Given the description of an element on the screen output the (x, y) to click on. 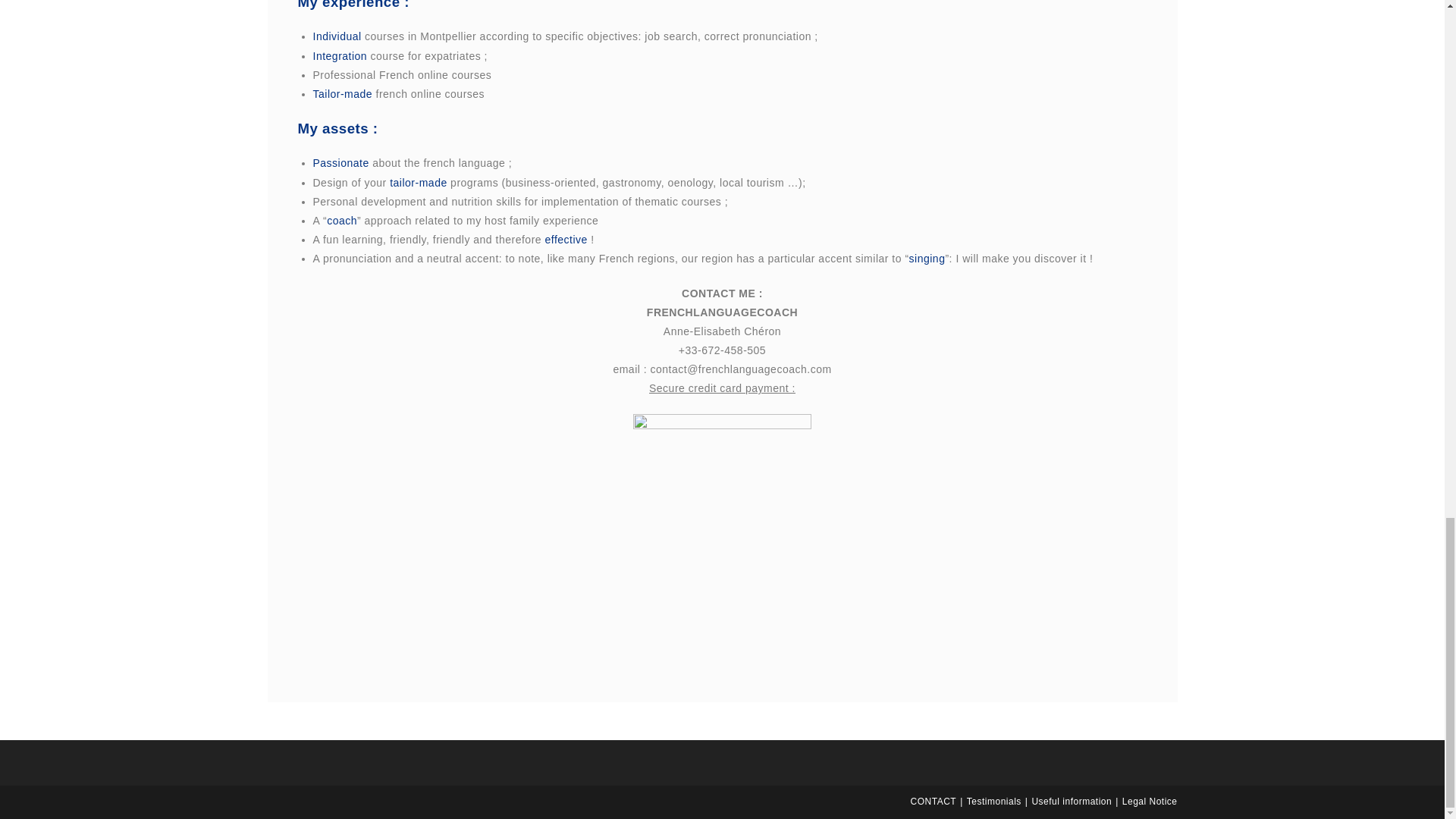
Useful information (1071, 801)
Testimonials (994, 801)
CONTACT (933, 801)
Legal Notice (1149, 801)
